Given the description of an element on the screen output the (x, y) to click on. 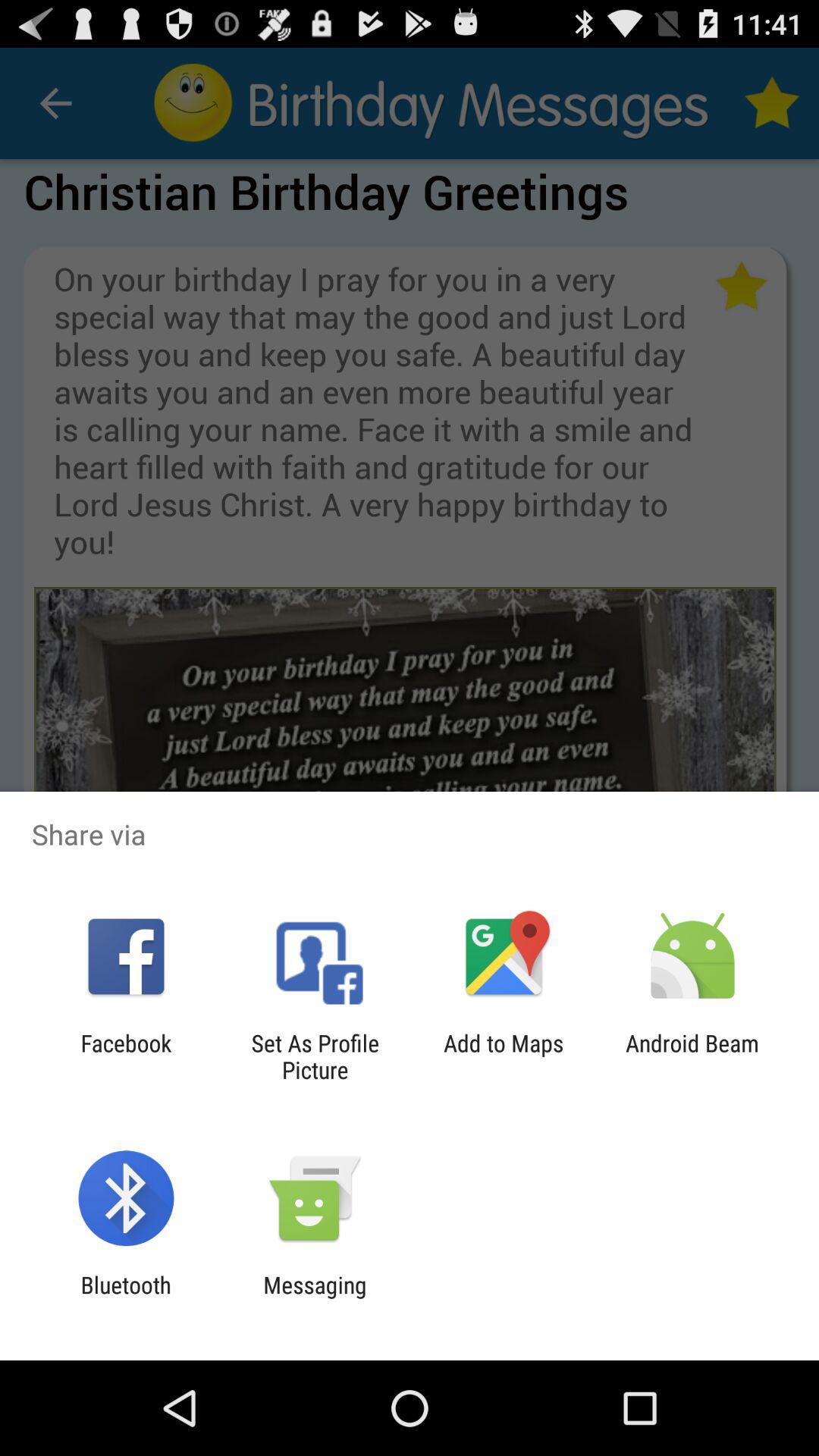
click the icon next to the messaging icon (125, 1298)
